Given the description of an element on the screen output the (x, y) to click on. 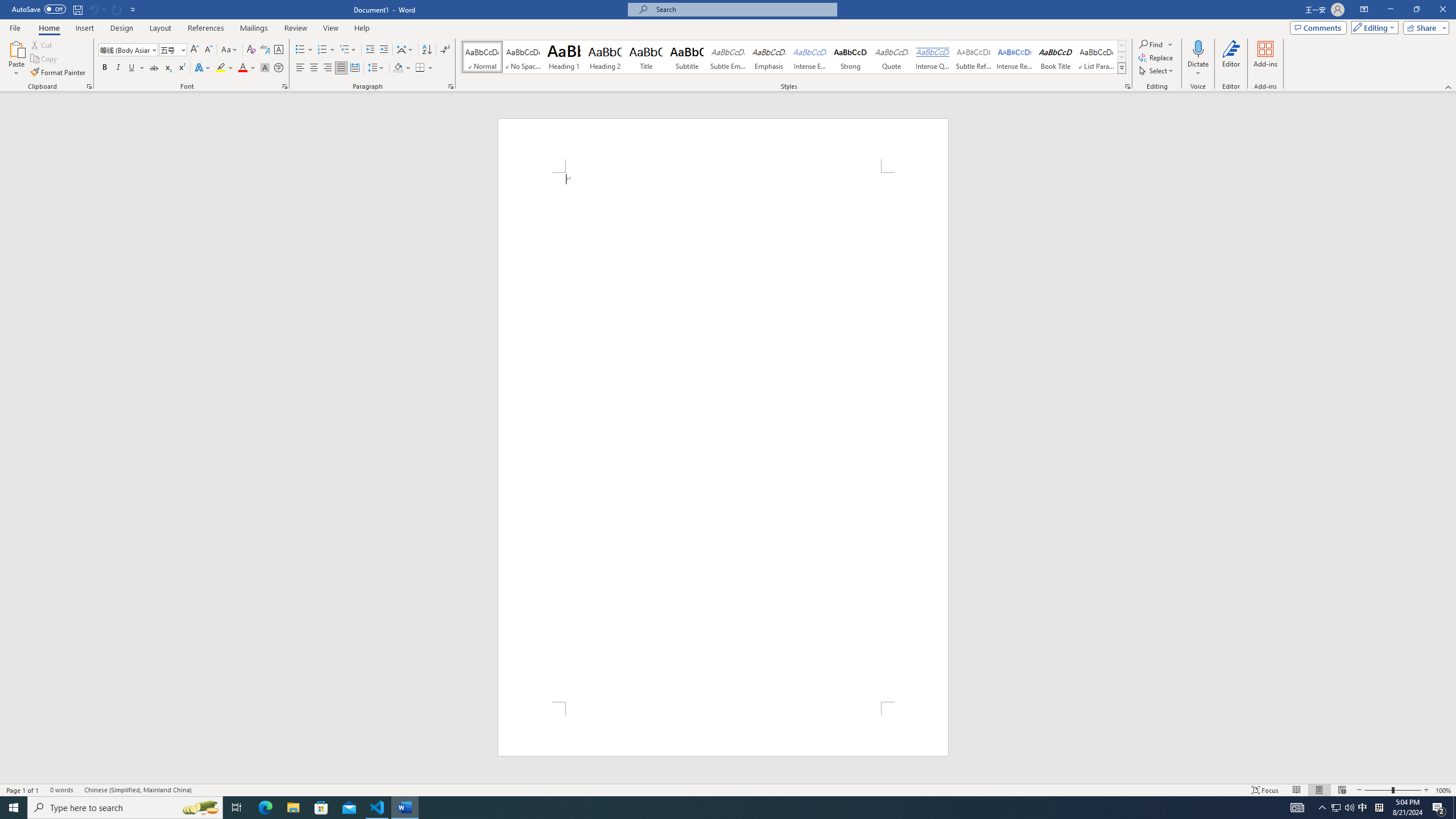
Can't Undo (96, 9)
